Given the description of an element on the screen output the (x, y) to click on. 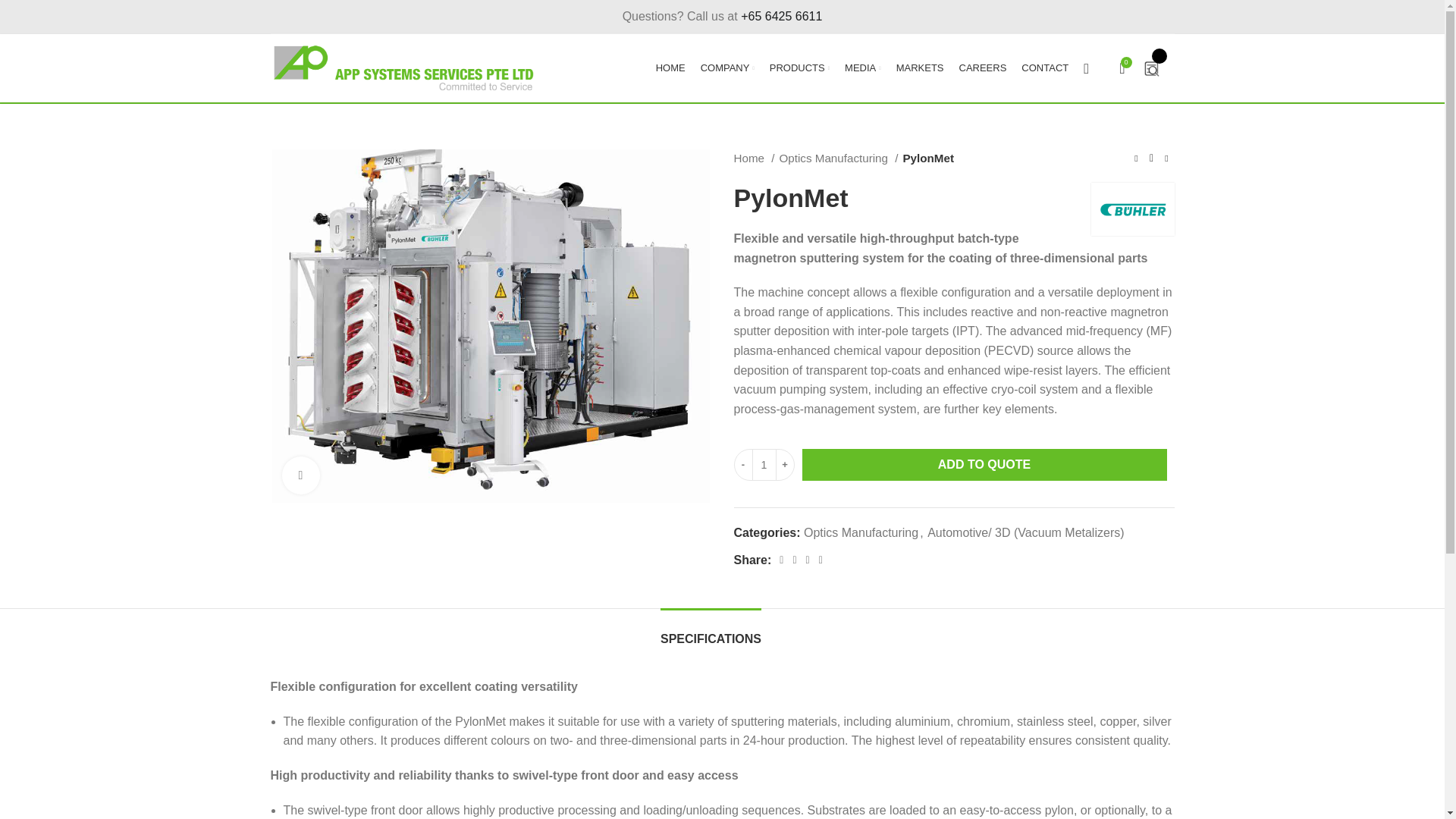
ADD TO QUOTE (984, 464)
MARKETS (920, 68)
Buhler Leybold Optics (1131, 209)
MEDIA (862, 68)
Home (753, 158)
CONTACT (1044, 68)
HOME (670, 68)
CAREERS (981, 68)
PRODUCTS (799, 68)
COMPANY (727, 68)
Optics Manufacturing (838, 158)
